Given the description of an element on the screen output the (x, y) to click on. 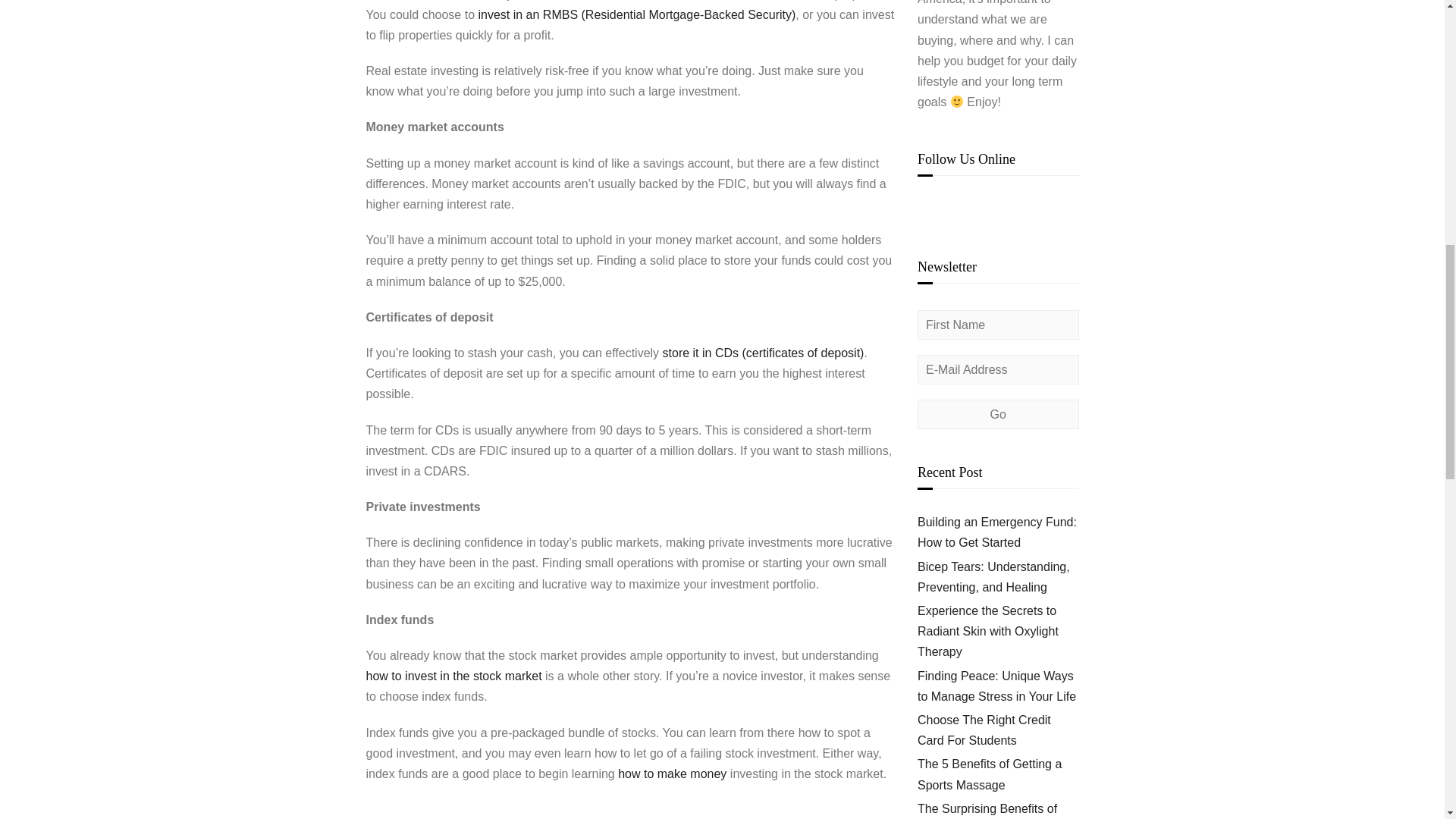
Twitter (1013, 206)
Facebook (949, 206)
Instagram (969, 206)
Go (997, 414)
RSS (991, 206)
Email (927, 206)
